Given the description of an element on the screen output the (x, y) to click on. 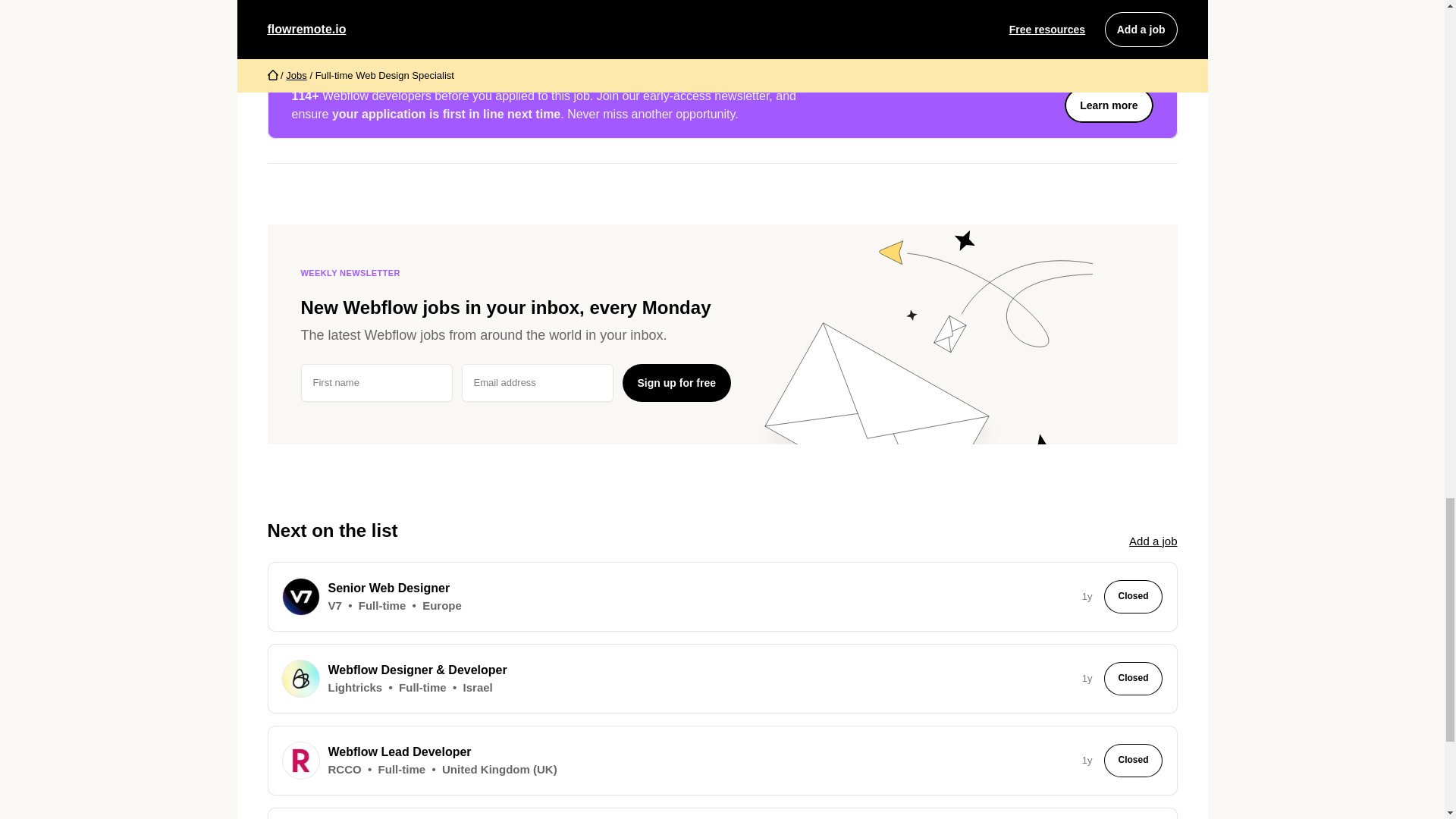
Sign up for free (675, 382)
Learn more (1108, 104)
Mark this job as closed. (690, 14)
Sign up for free (675, 382)
Add a job (1152, 540)
Mark this job as closed. (690, 14)
